Given the description of an element on the screen output the (x, y) to click on. 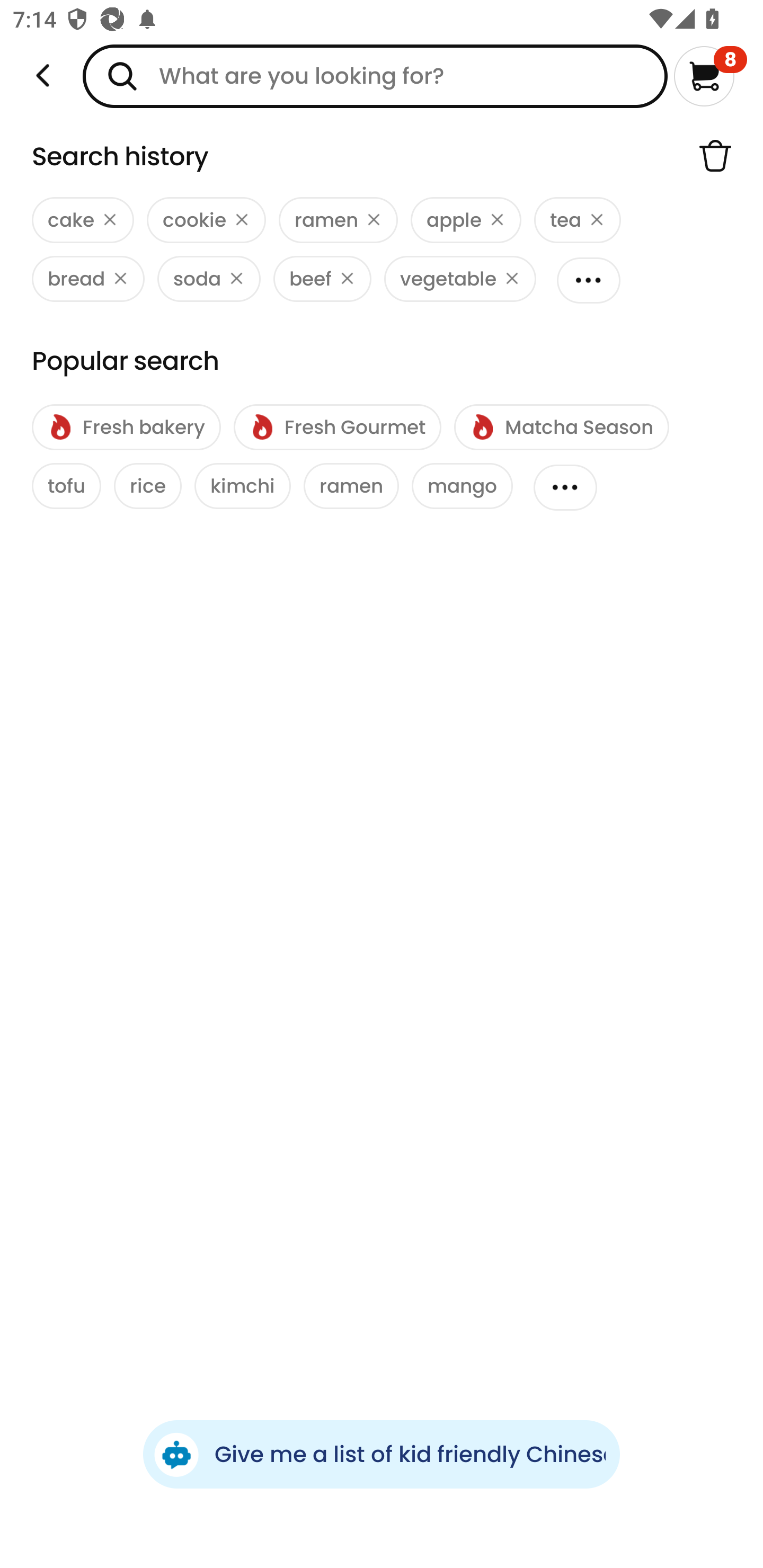
What are you looking for? (374, 75)
8 (709, 75)
Weee! (42, 76)
cake (83, 220)
cookie (206, 220)
ramen (338, 220)
apple (465, 220)
tea (577, 220)
bread (88, 278)
soda (208, 278)
beef (322, 278)
vegetable (459, 278)
Fresh bakery (126, 427)
Fresh Gourmet (337, 427)
Matcha Season (561, 427)
tofu (66, 485)
rice (147, 485)
kimchi (242, 485)
ramen (351, 485)
mango (462, 485)
